Given the description of an element on the screen output the (x, y) to click on. 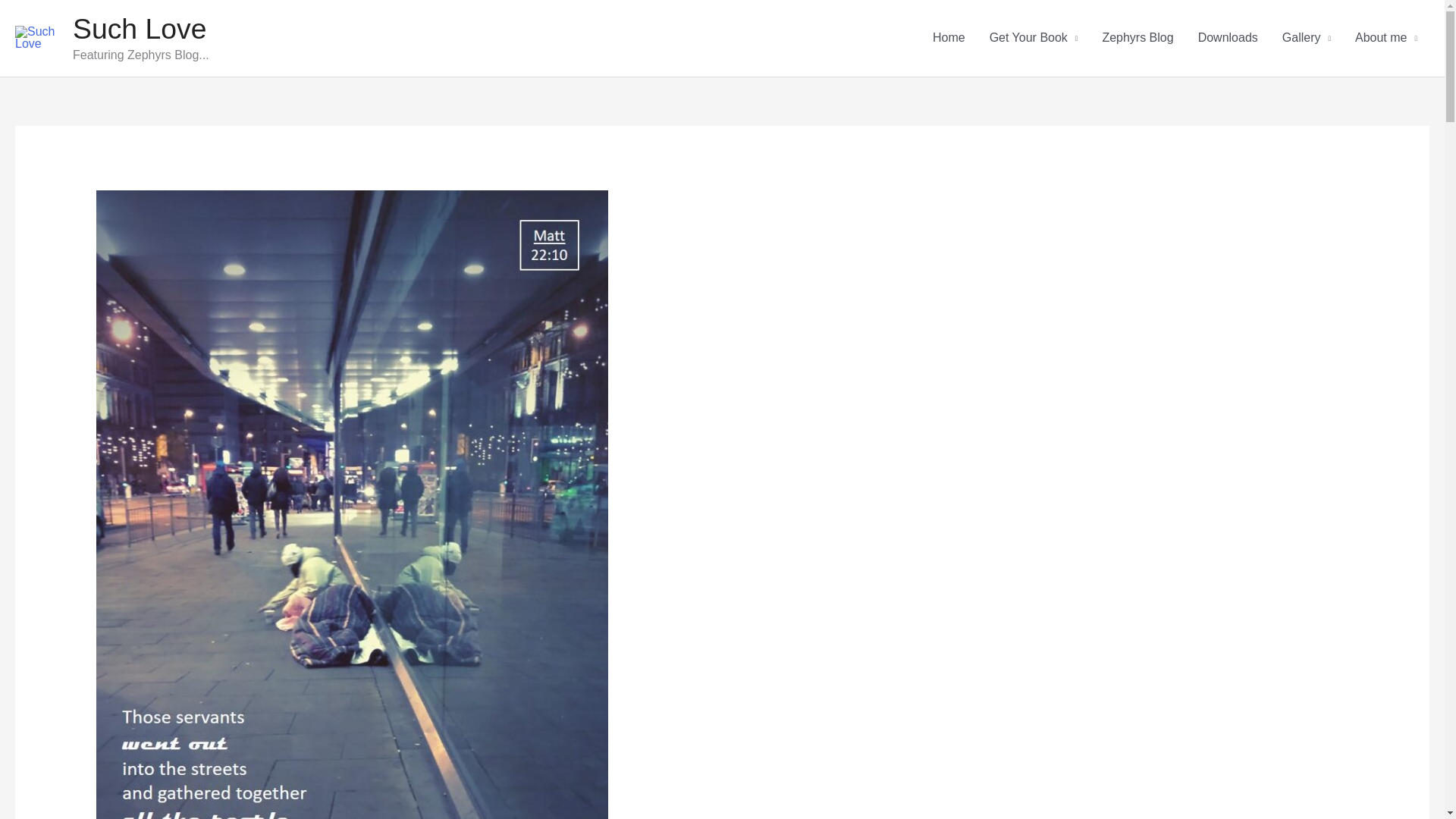
Get Your Book (1033, 38)
Zephyrs Blog (1137, 38)
About me (1385, 38)
Gallery (1305, 38)
Downloads (1227, 38)
Such Love (139, 29)
